Given the description of an element on the screen output the (x, y) to click on. 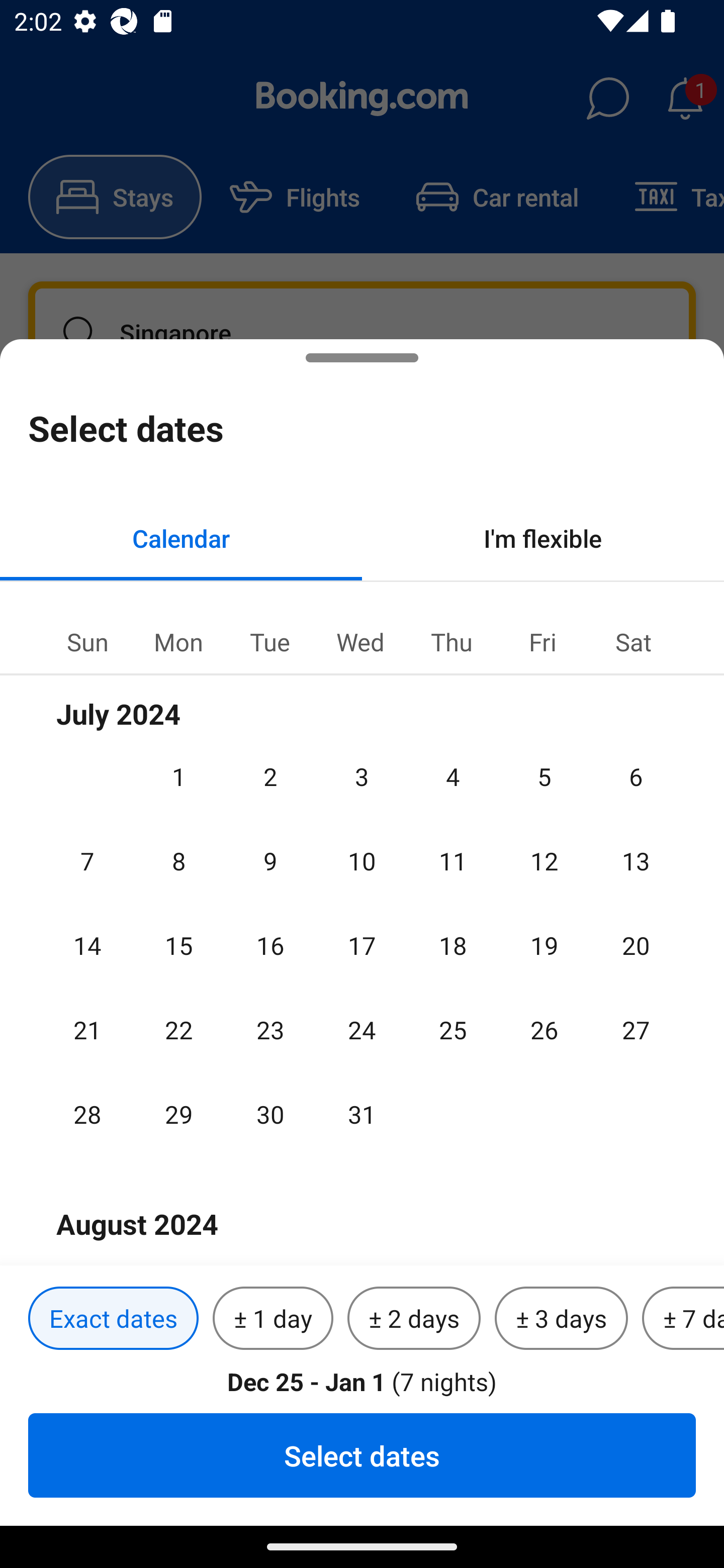
I'm flexible (543, 537)
Exact dates (113, 1318)
± 1 day (272, 1318)
± 2 days (413, 1318)
± 3 days (560, 1318)
± 7 days (683, 1318)
Select dates (361, 1454)
